Given the description of an element on the screen output the (x, y) to click on. 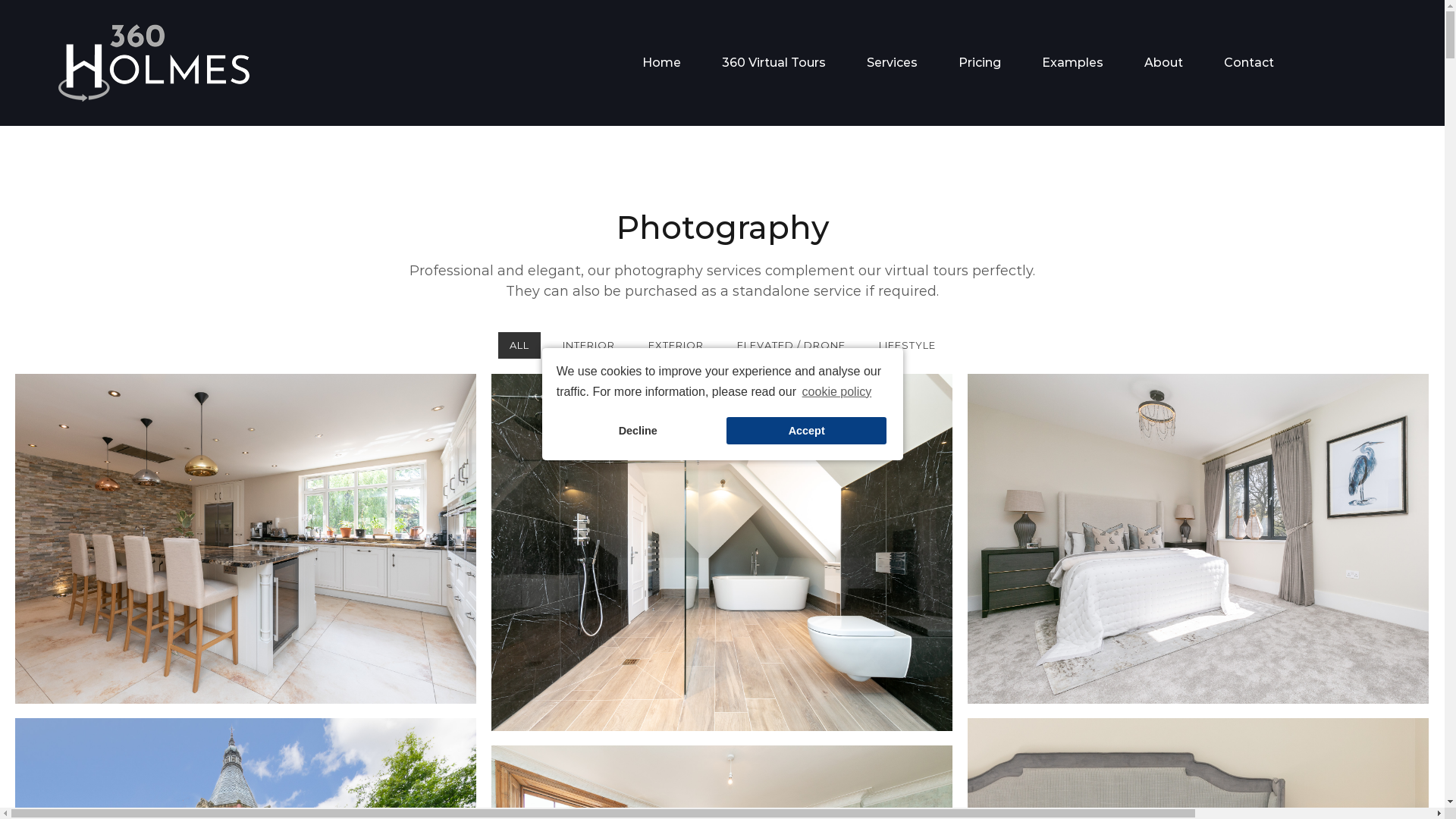
Contact Element type: text (1248, 62)
360 Virtual Tours Element type: text (773, 62)
Services Element type: text (891, 62)
Accept Element type: text (806, 430)
cookie policy Element type: text (835, 391)
Home Element type: text (661, 62)
About Element type: text (1163, 62)
Decline Element type: text (637, 430)
Pricing Element type: text (979, 62)
Examples Element type: text (1072, 62)
